Given the description of an element on the screen output the (x, y) to click on. 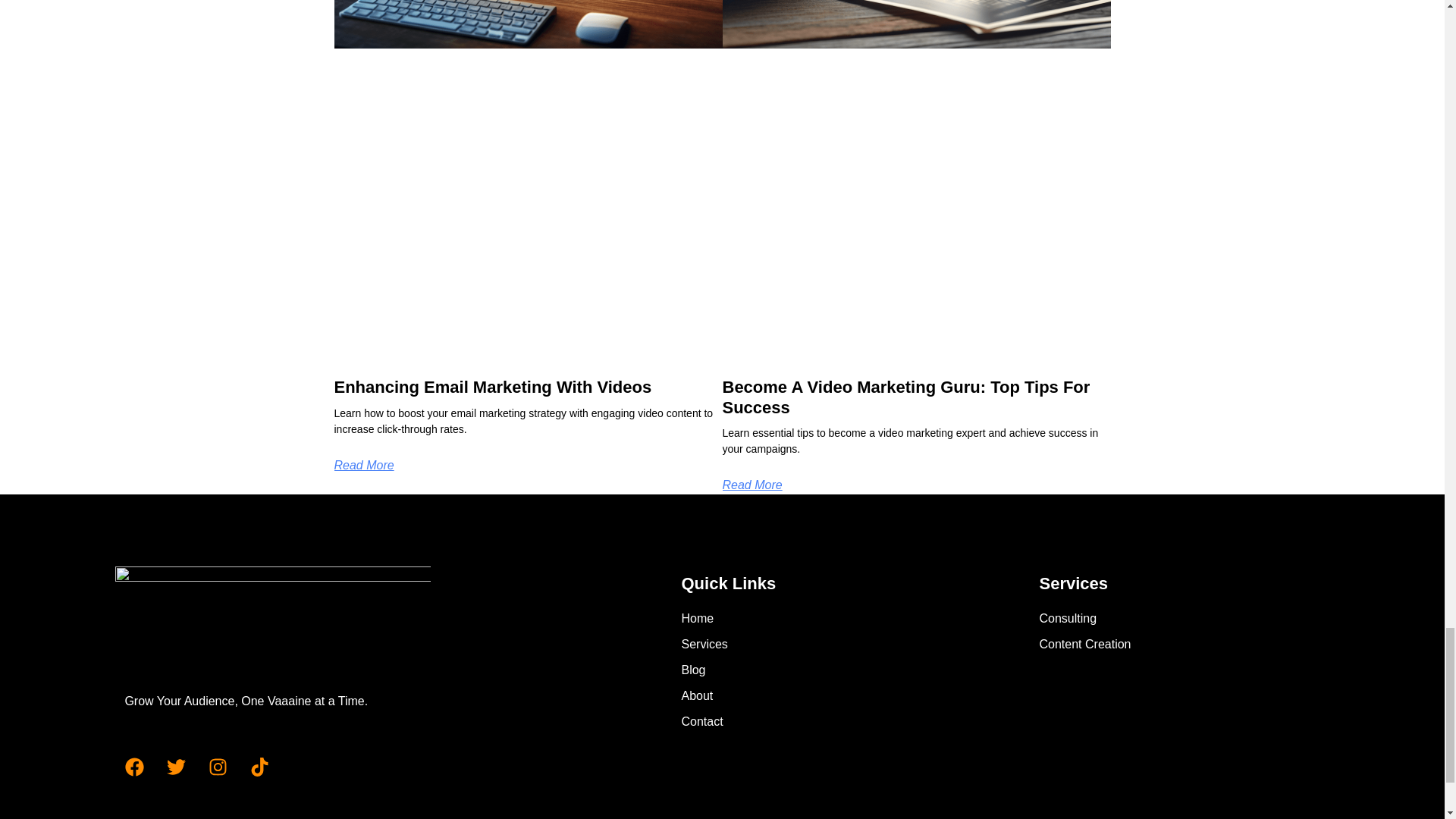
About (776, 696)
Read More (363, 464)
Services (776, 644)
Read More (751, 484)
Blog (776, 669)
Contact (776, 721)
Enhancing Email Marketing With Videos (491, 386)
Home (776, 618)
Become A Video Marketing Guru: Top Tips For Success (905, 396)
